Given the description of an element on the screen output the (x, y) to click on. 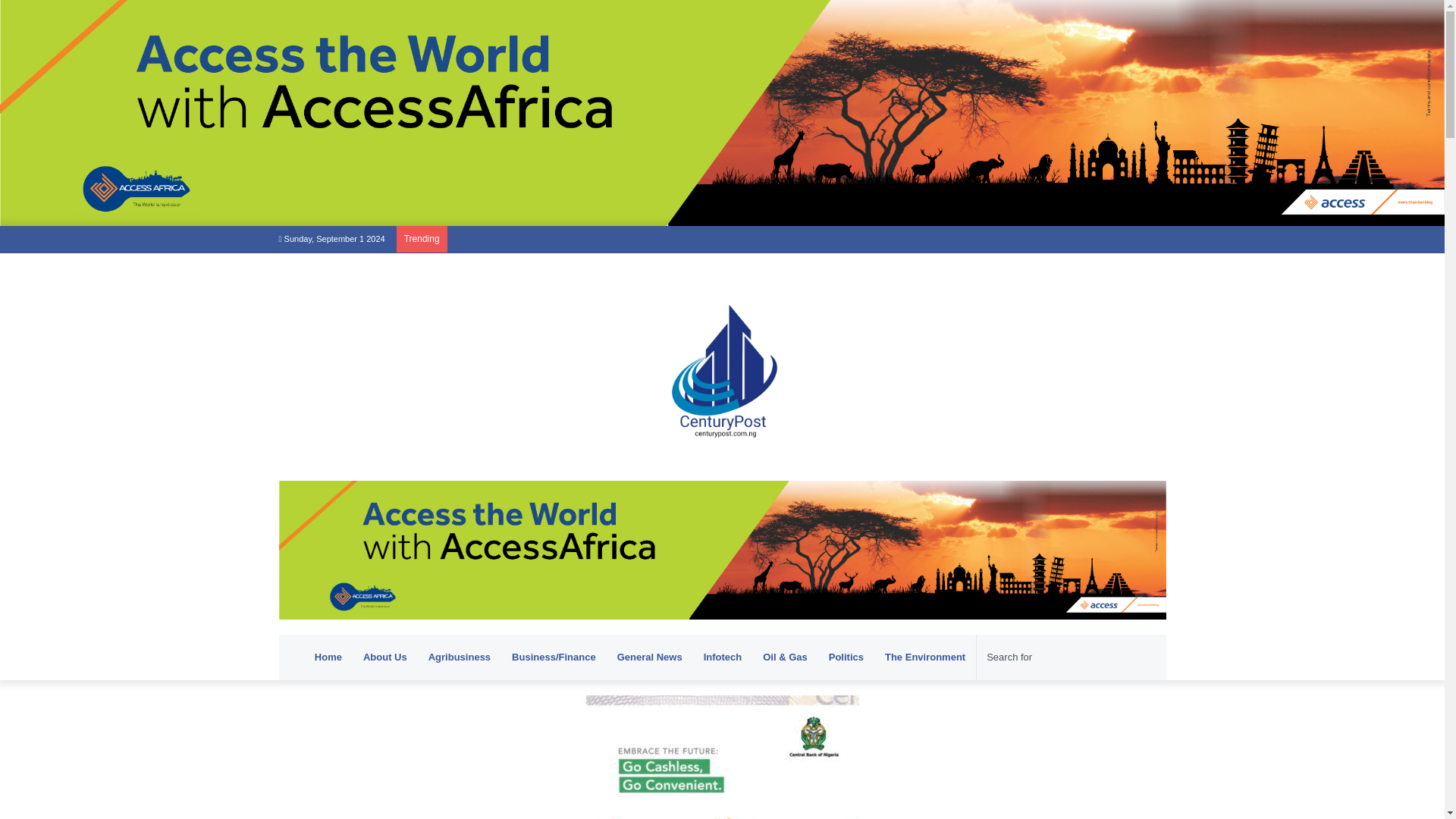
Accessbank Ad (722, 549)
Infotech (722, 657)
Century Post (722, 366)
Search for (1058, 657)
General News (650, 657)
About Us (384, 657)
The Environment (925, 657)
Agribusiness (458, 657)
Politics (846, 657)
Home (328, 657)
